Given the description of an element on the screen output the (x, y) to click on. 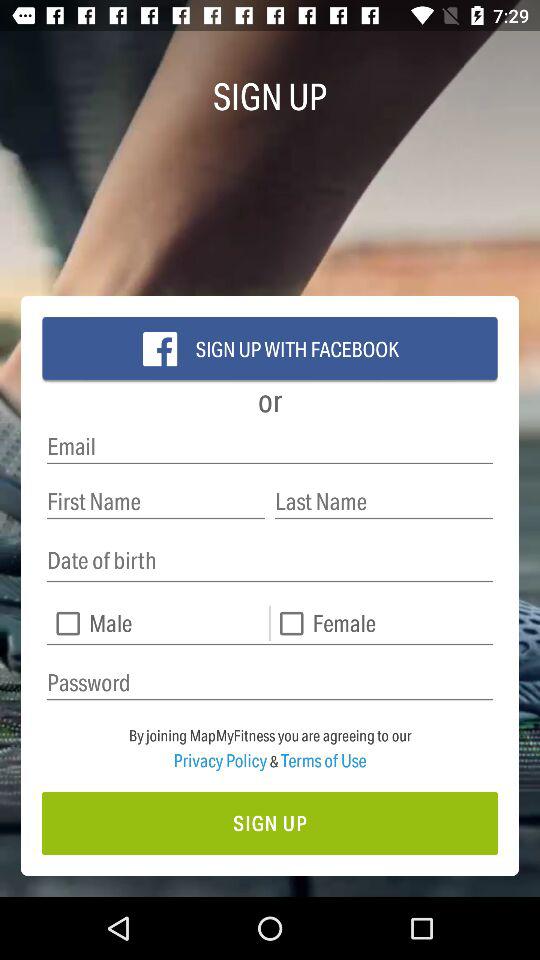
your first name (156, 501)
